Given the description of an element on the screen output the (x, y) to click on. 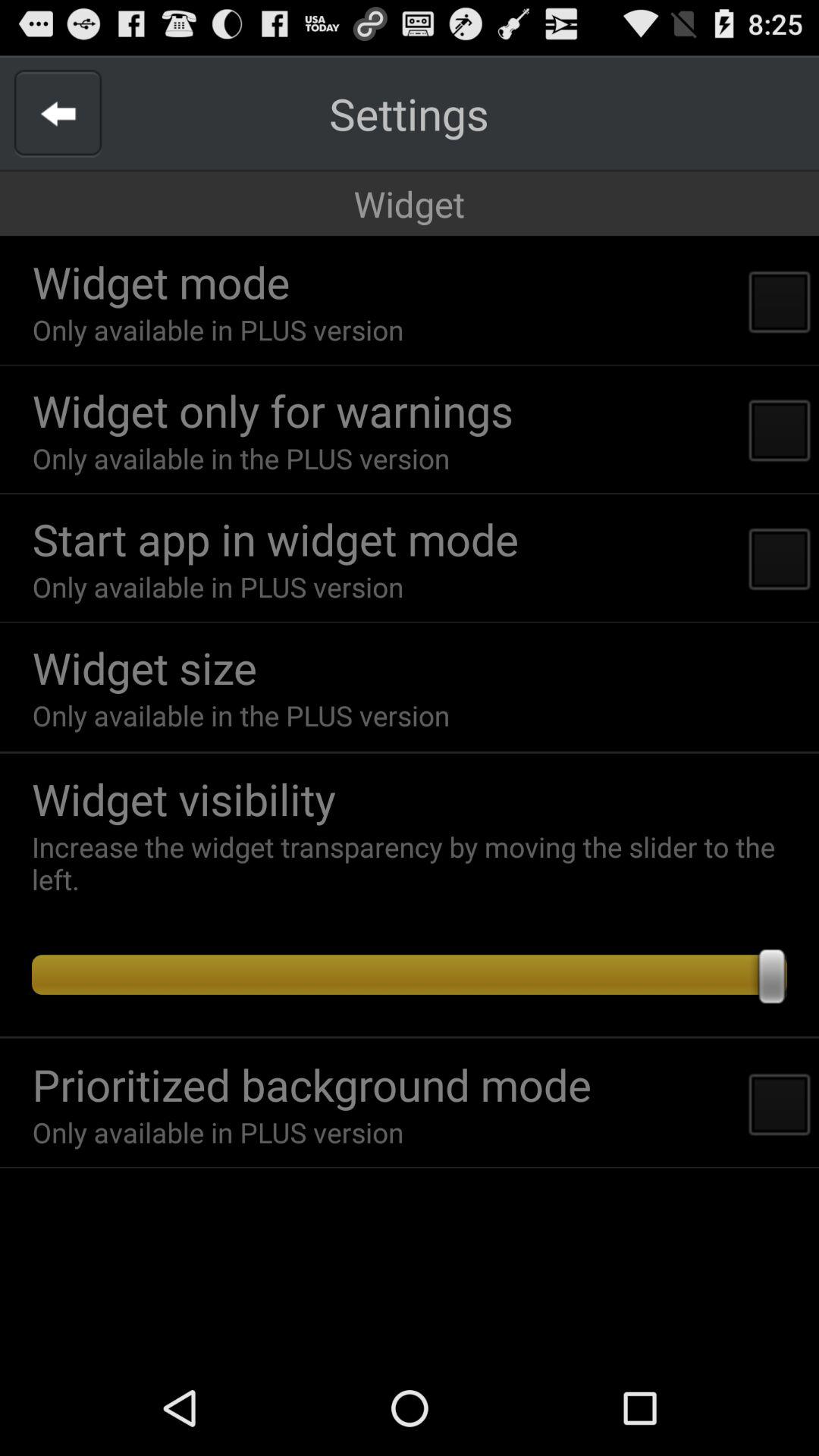
turn on the item next to settings item (57, 113)
